Given the description of an element on the screen output the (x, y) to click on. 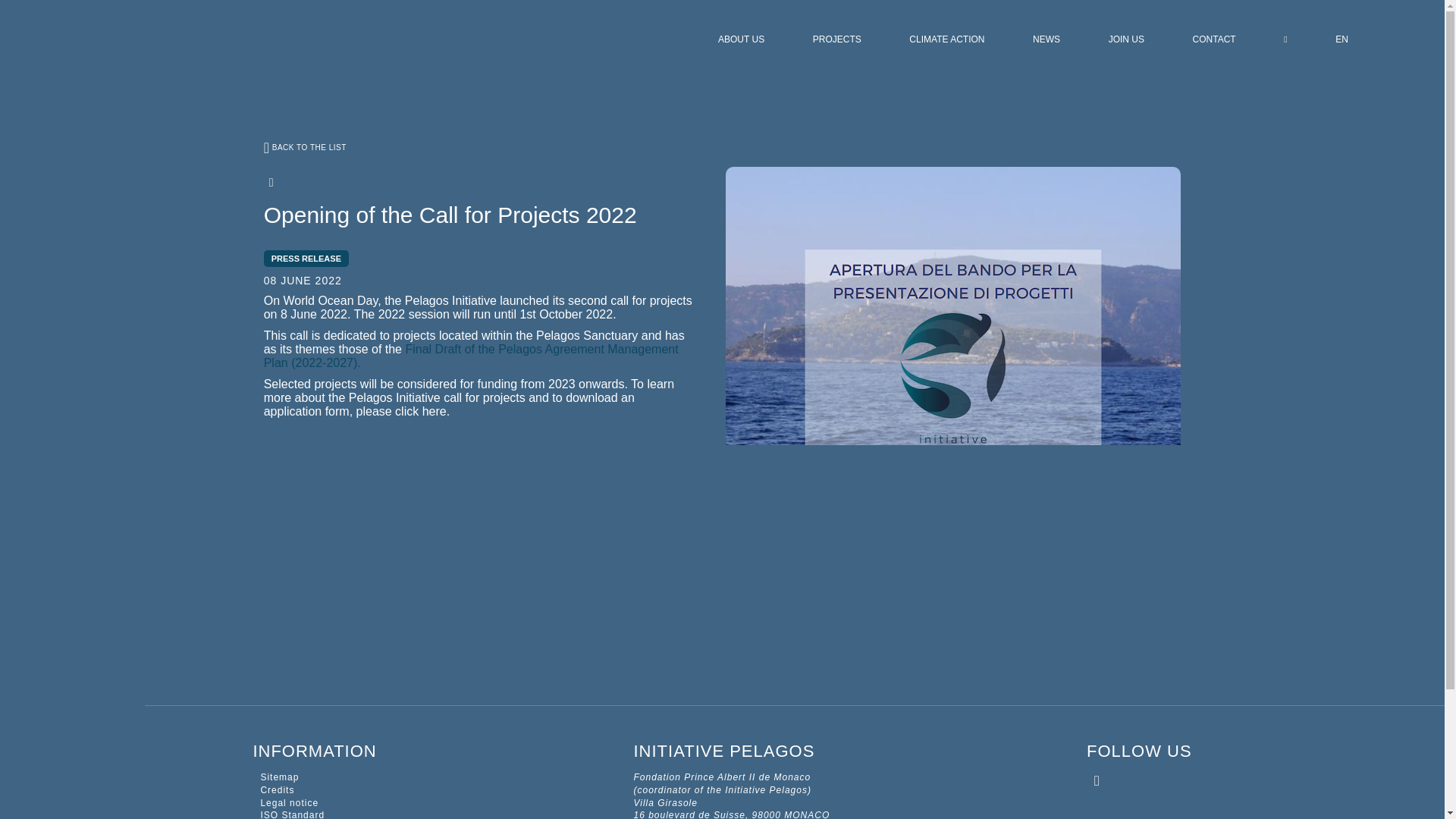
PROJECTS (837, 39)
NEWS (1046, 39)
EN (1341, 39)
ABOUT US (741, 39)
CONTACT (1214, 39)
Facebook (240, 183)
CLIMATE ACTION (947, 39)
 BACK TO THE LIST (721, 147)
JOIN US (1126, 39)
Initiative Pelagos (214, 104)
